Given the description of an element on the screen output the (x, y) to click on. 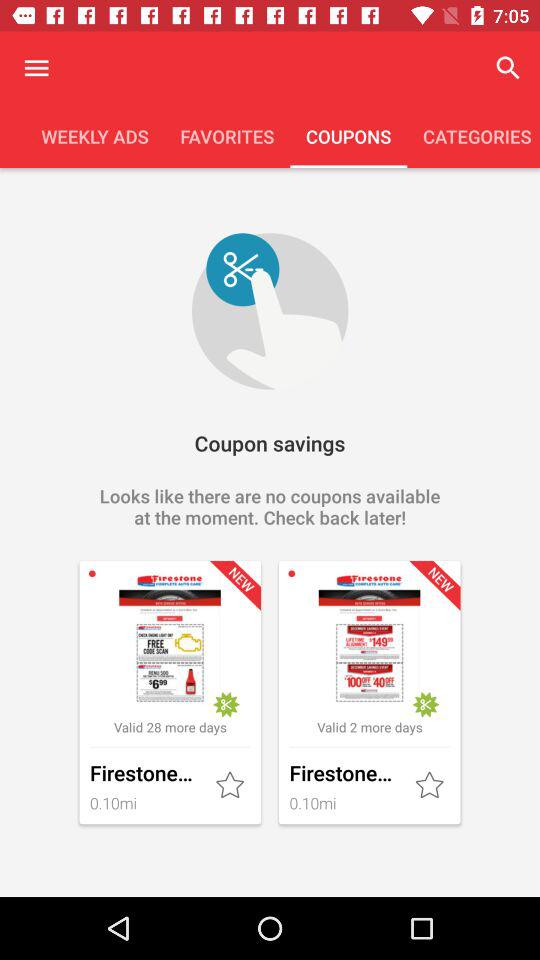
favorite item (232, 786)
